Given the description of an element on the screen output the (x, y) to click on. 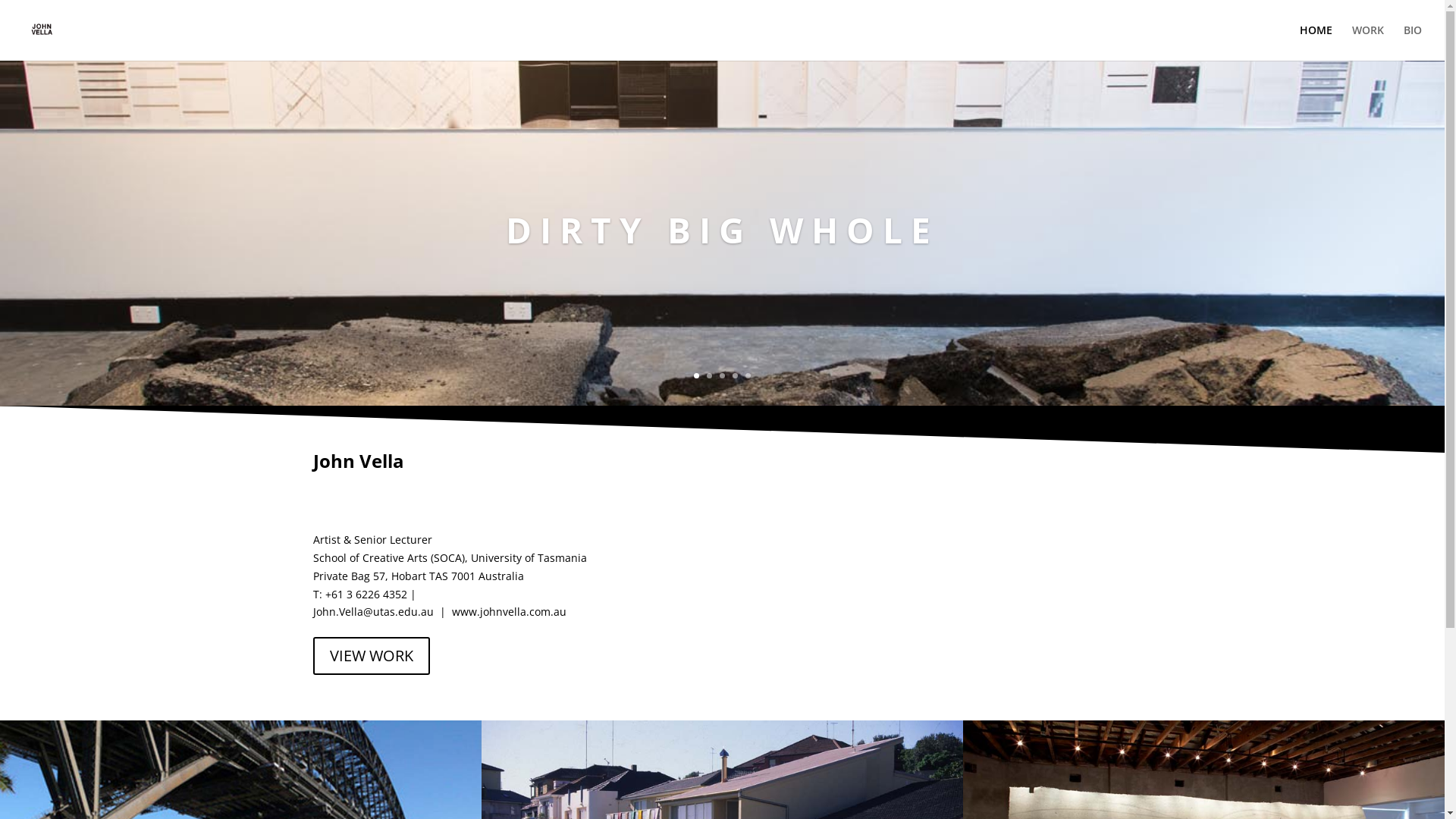
4 Element type: text (734, 375)
1 Element type: text (696, 375)
HOME Element type: text (1315, 42)
5 Element type: text (747, 375)
www.johnvella.com.au Element type: text (508, 611)
VIEW WORK Element type: text (370, 655)
2 Element type: text (709, 375)
BIO Element type: text (1412, 42)
3 Element type: text (721, 375)
WORK Element type: text (1367, 42)
